Given the description of an element on the screen output the (x, y) to click on. 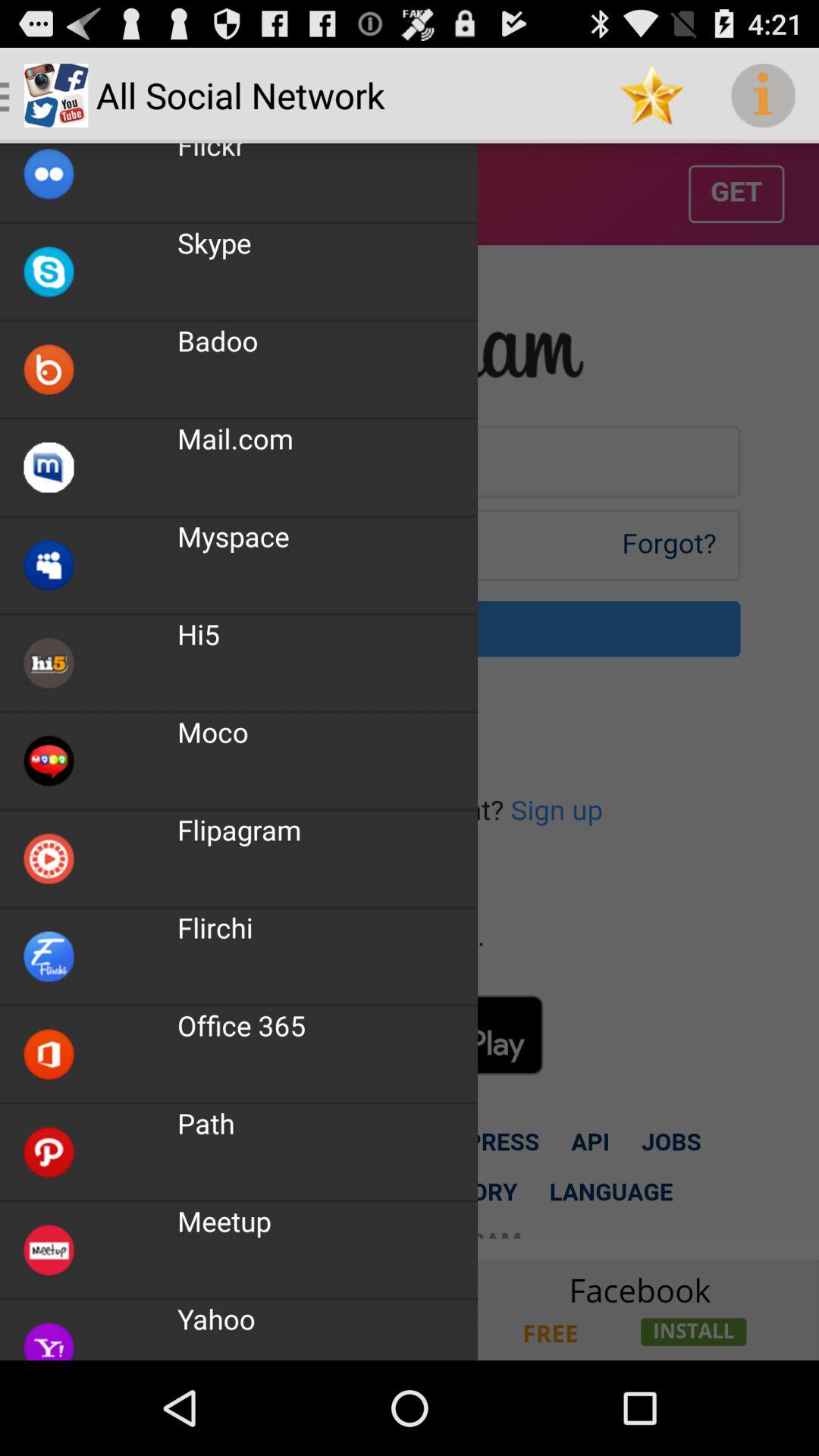
press the mail.com icon (235, 438)
